Given the description of an element on the screen output the (x, y) to click on. 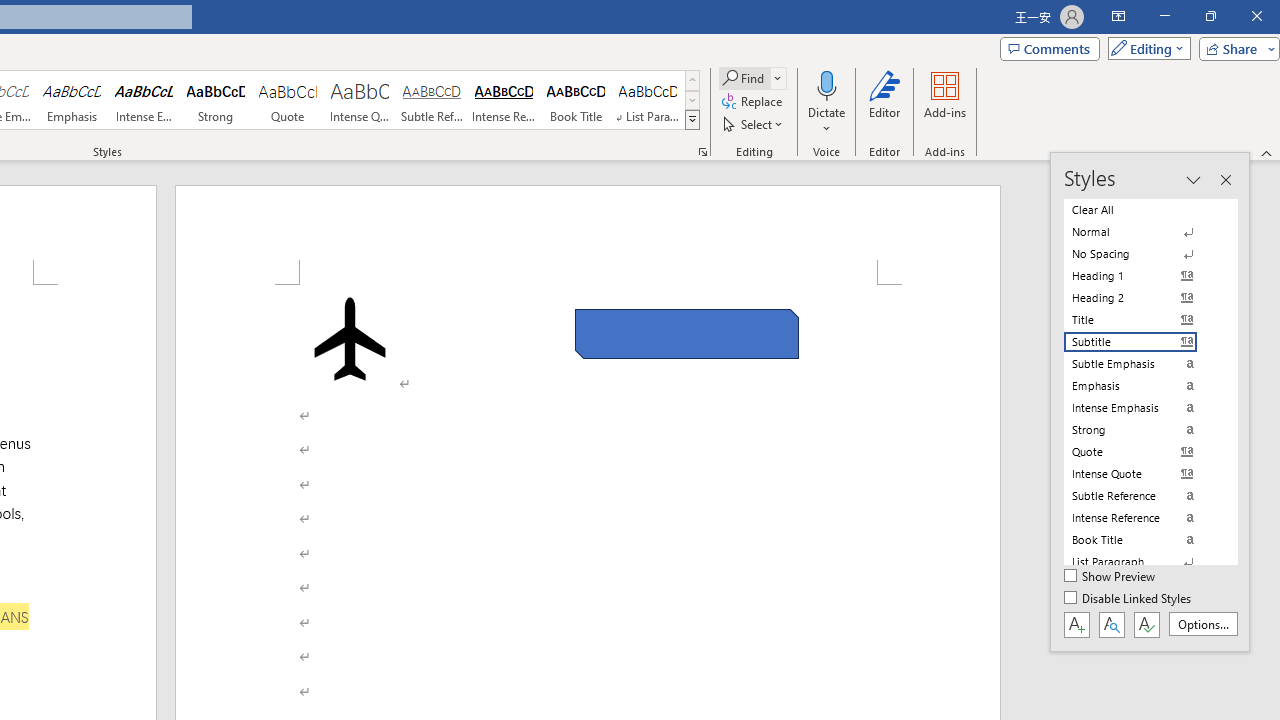
Options... (1202, 623)
Airplane with solid fill (349, 338)
Rectangle: Diagonal Corners Snipped 2 (686, 333)
Intense Emphasis (143, 100)
Normal (1142, 232)
